Given the description of an element on the screen output the (x, y) to click on. 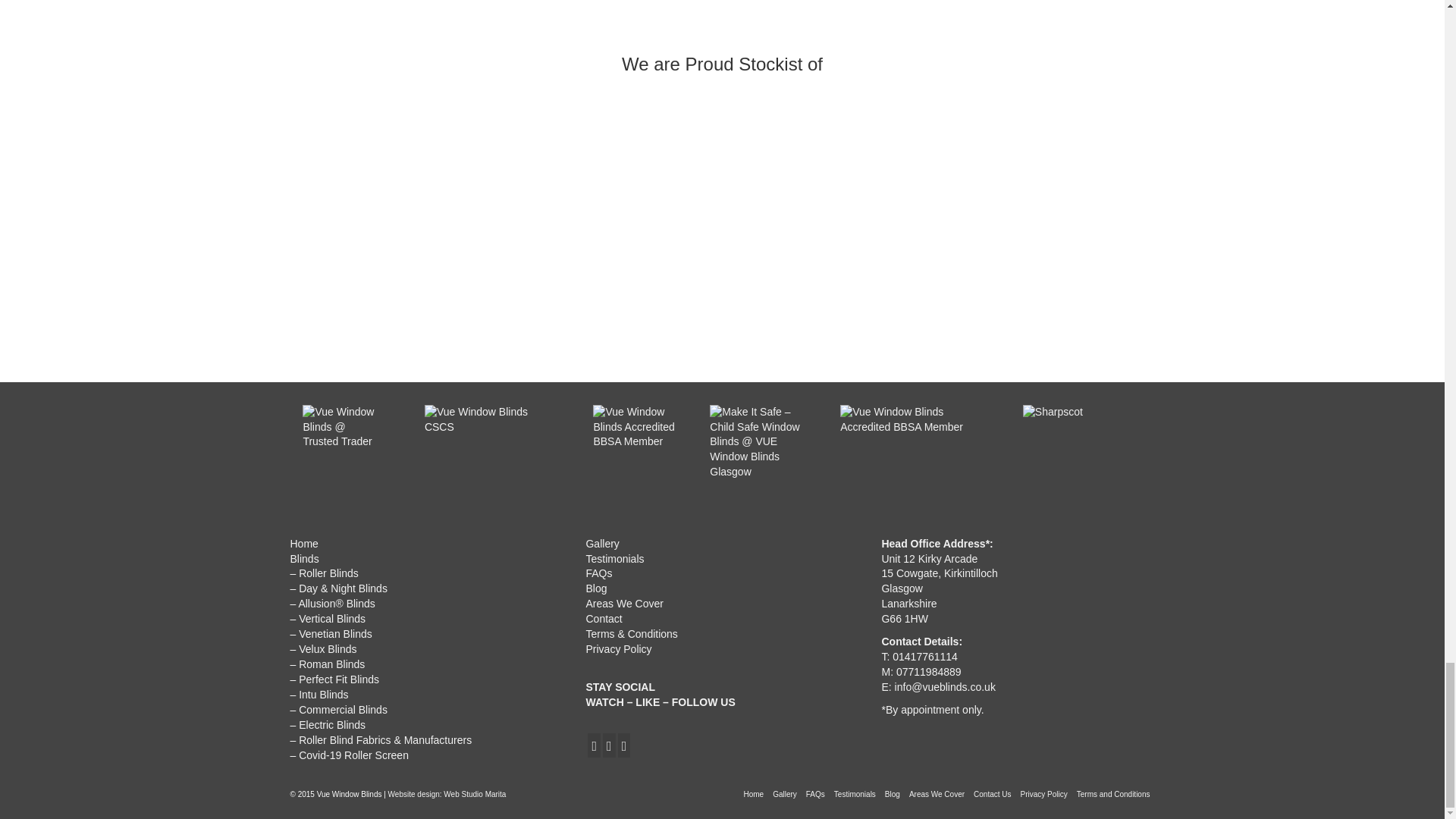
cscs approved (489, 447)
NHS DISCOUNTS AND DEALS (908, 447)
sharpscot Scotland Logo (1080, 447)
VUE Window Blinds is Accredited BBSA Member (635, 447)
